Given the description of an element on the screen output the (x, y) to click on. 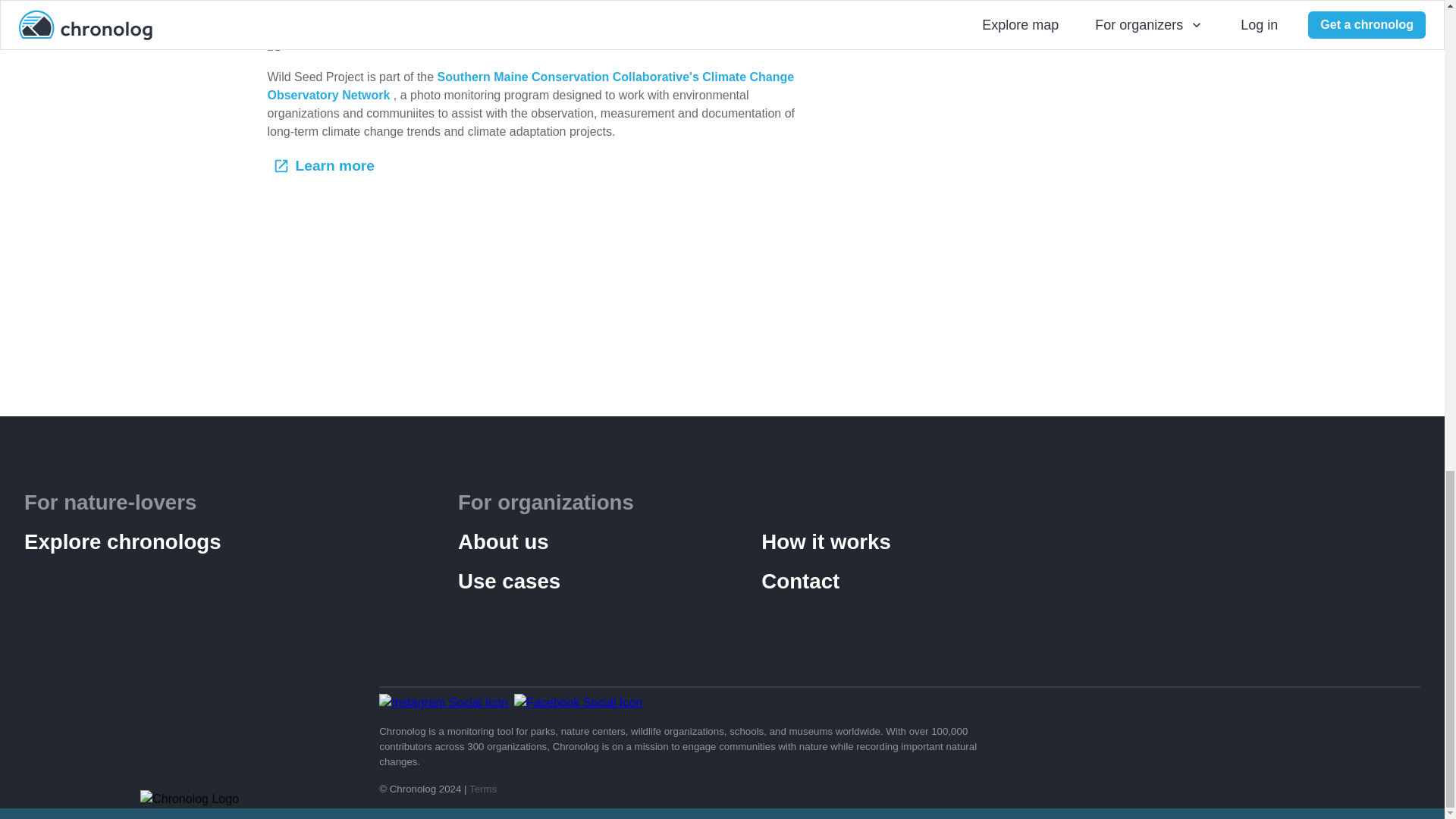
About us (609, 542)
How it works (912, 542)
Learn more about Wild Seed Project here (384, 15)
Use cases (609, 581)
Terms (482, 788)
Learn more (324, 164)
Learn more (324, 165)
Contact (912, 581)
